Given the description of an element on the screen output the (x, y) to click on. 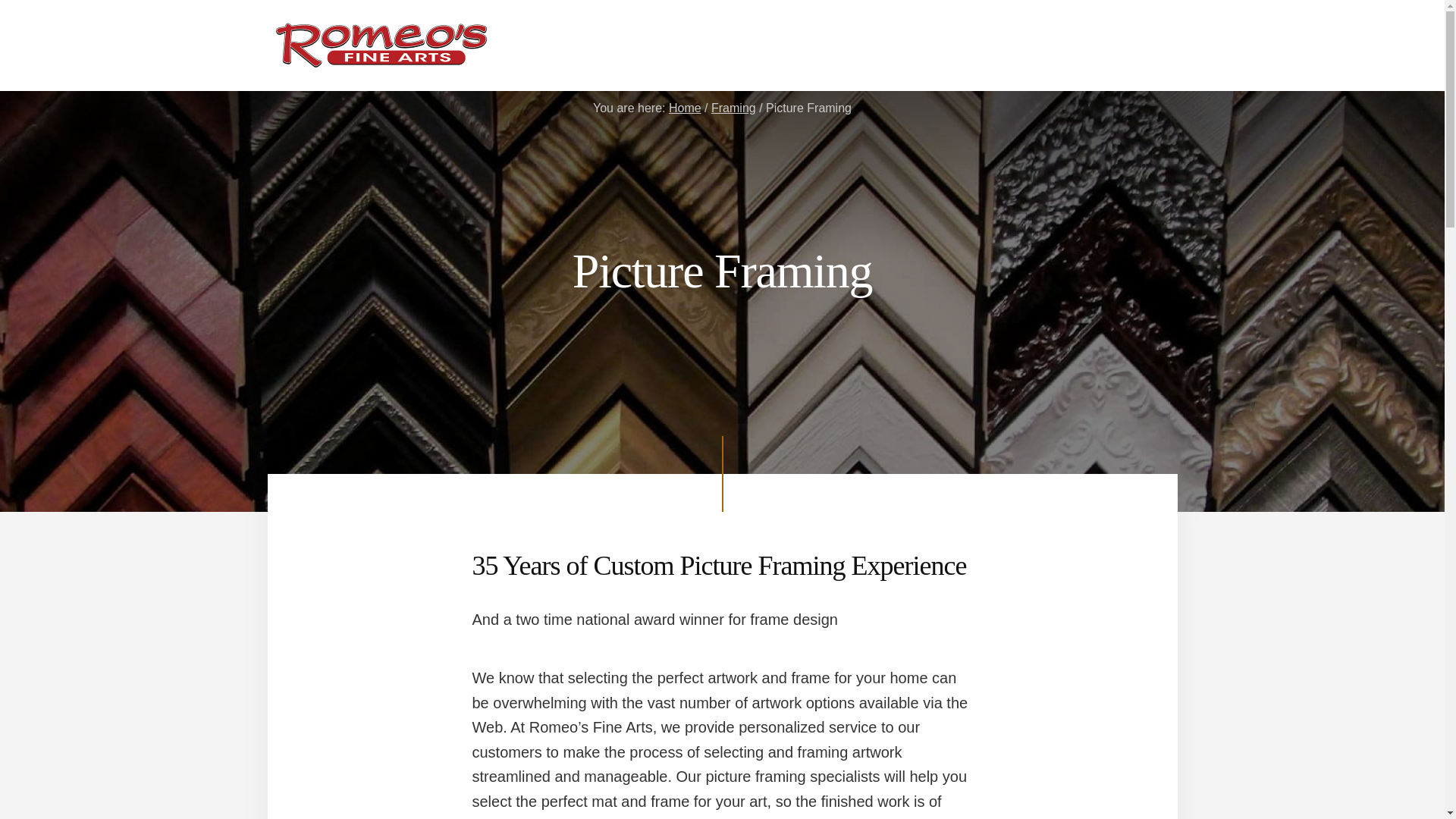
Home (684, 107)
Framing (733, 107)
